Given the description of an element on the screen output the (x, y) to click on. 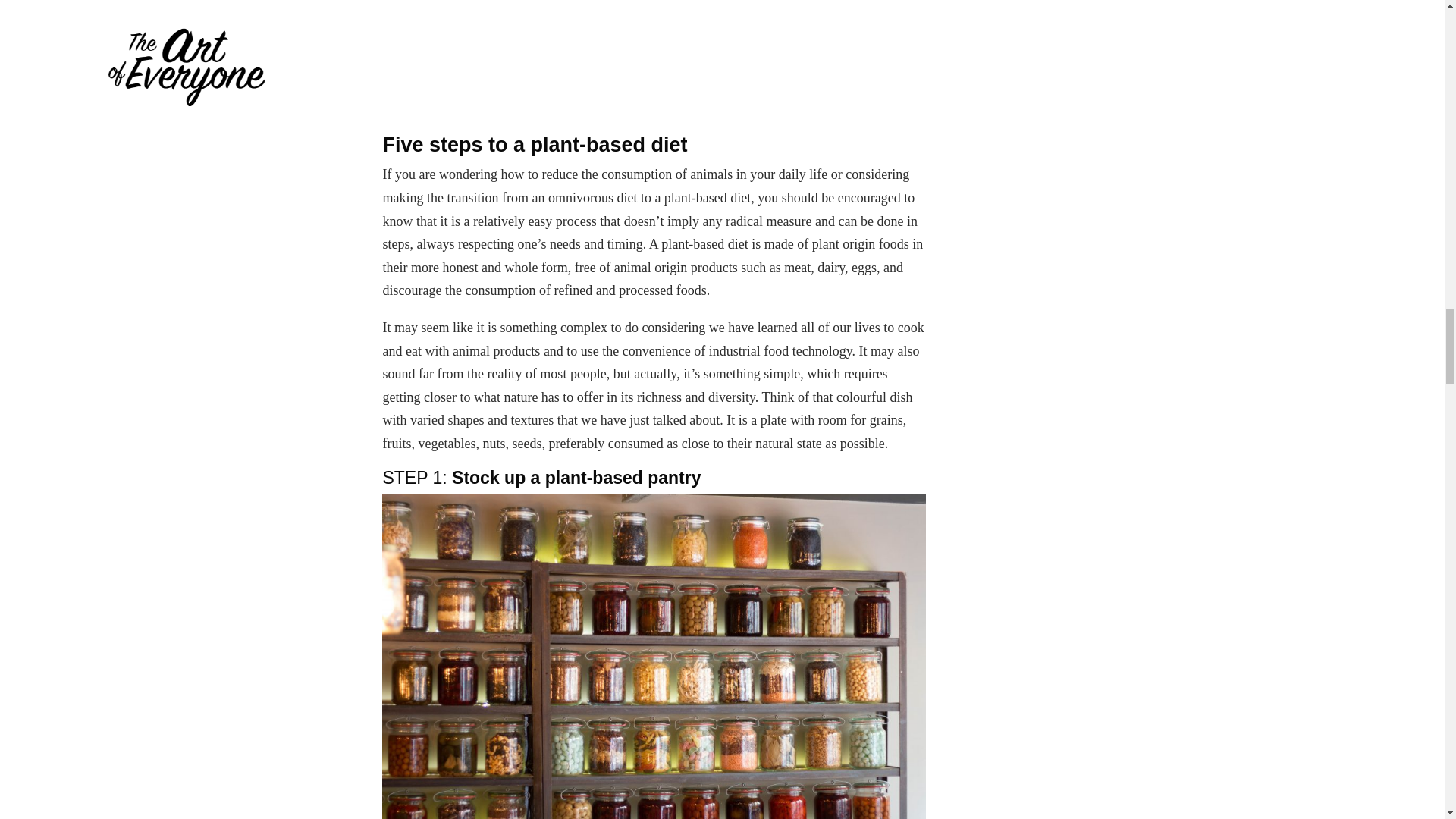
Retratos: Alain Passard (653, 61)
